Given the description of an element on the screen output the (x, y) to click on. 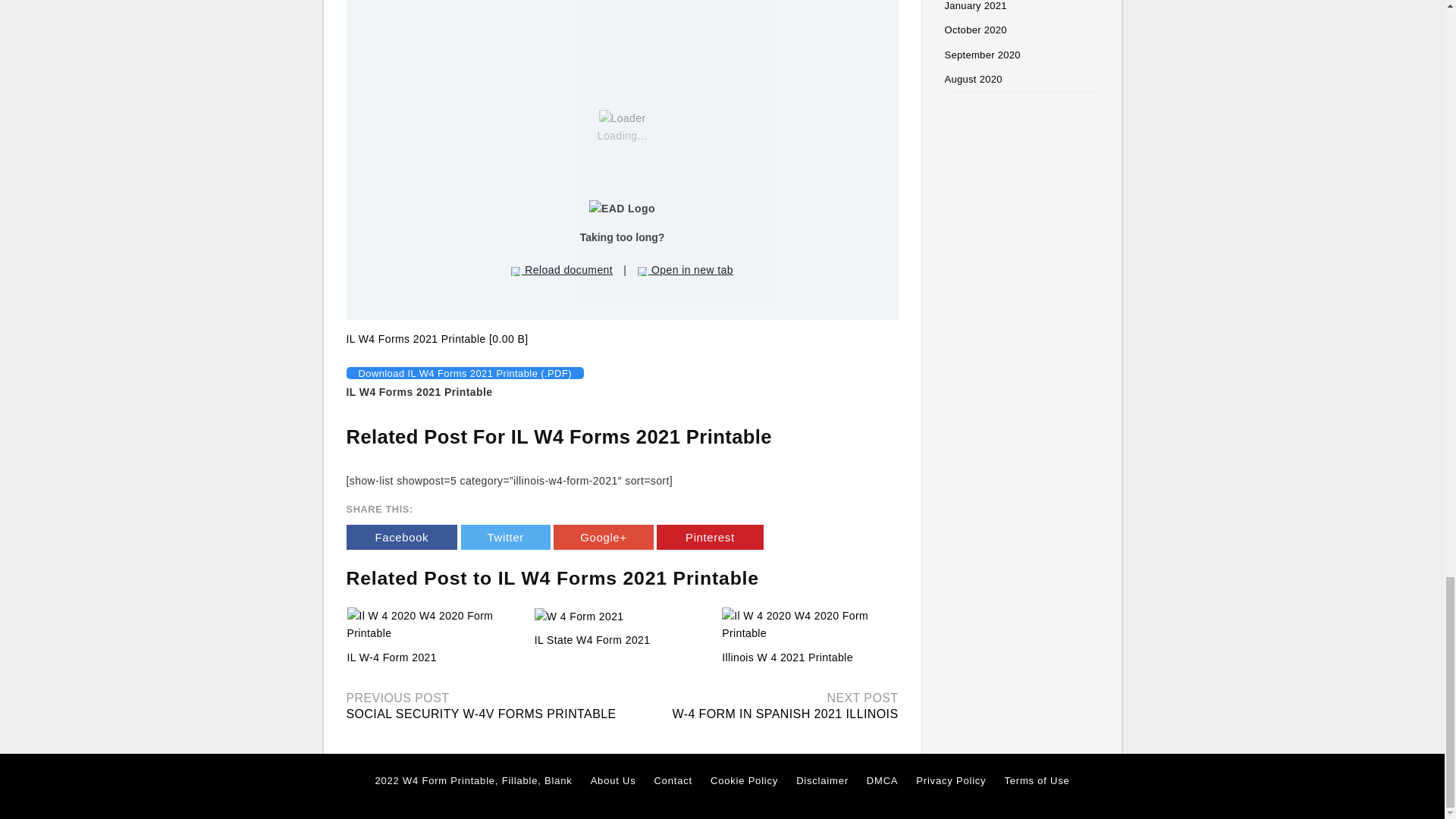
SOCIAL SECURITY W-4V FORMS PRINTABLE (480, 713)
EAD logo (622, 208)
Open in new tab (685, 270)
IL State W4 Form 2021 (592, 639)
Illinois W 4 2021 Printable (809, 624)
IL W-4 Form 2021 (391, 657)
Illinois W 4 2021 Printable (787, 657)
loading (622, 118)
Facebook (401, 536)
W-4 FORM IN SPANISH 2021 ILLINOIS (784, 713)
IL State W4 Form 2021 (622, 616)
Pinterest (709, 536)
reload (515, 271)
Illinois W 4 2021 Printable (787, 657)
open (641, 271)
